Given the description of an element on the screen output the (x, y) to click on. 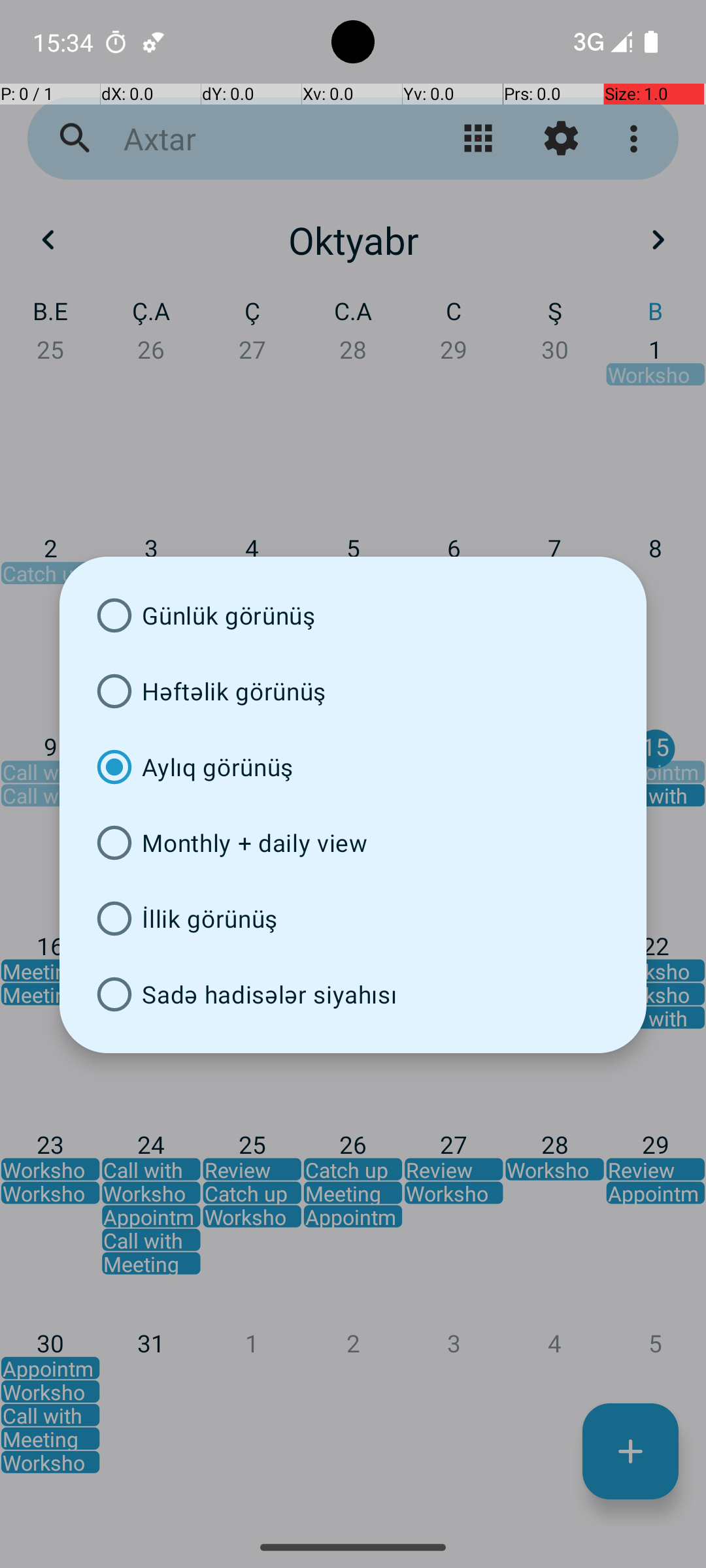
Günlük görünüş Element type: android.widget.RadioButton (352, 615)
Həftəlik görünüş Element type: android.widget.RadioButton (352, 691)
Aylıq görünüş Element type: android.widget.RadioButton (352, 766)
Monthly + daily view Element type: android.widget.RadioButton (352, 842)
İllik görünüş Element type: android.widget.RadioButton (352, 918)
Sadə hadisələr siyahısı Element type: android.widget.RadioButton (352, 994)
